Given the description of an element on the screen output the (x, y) to click on. 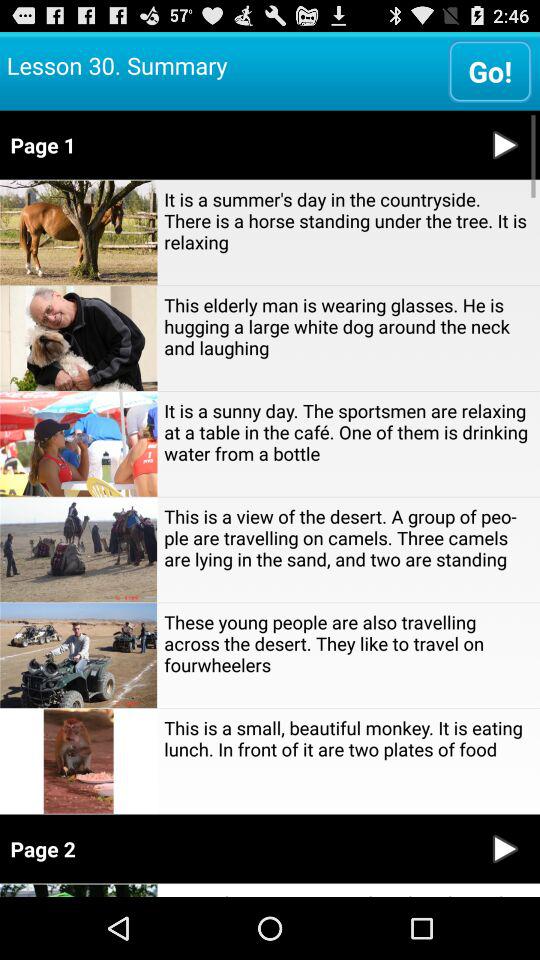
play icon (505, 848)
